Given the description of an element on the screen output the (x, y) to click on. 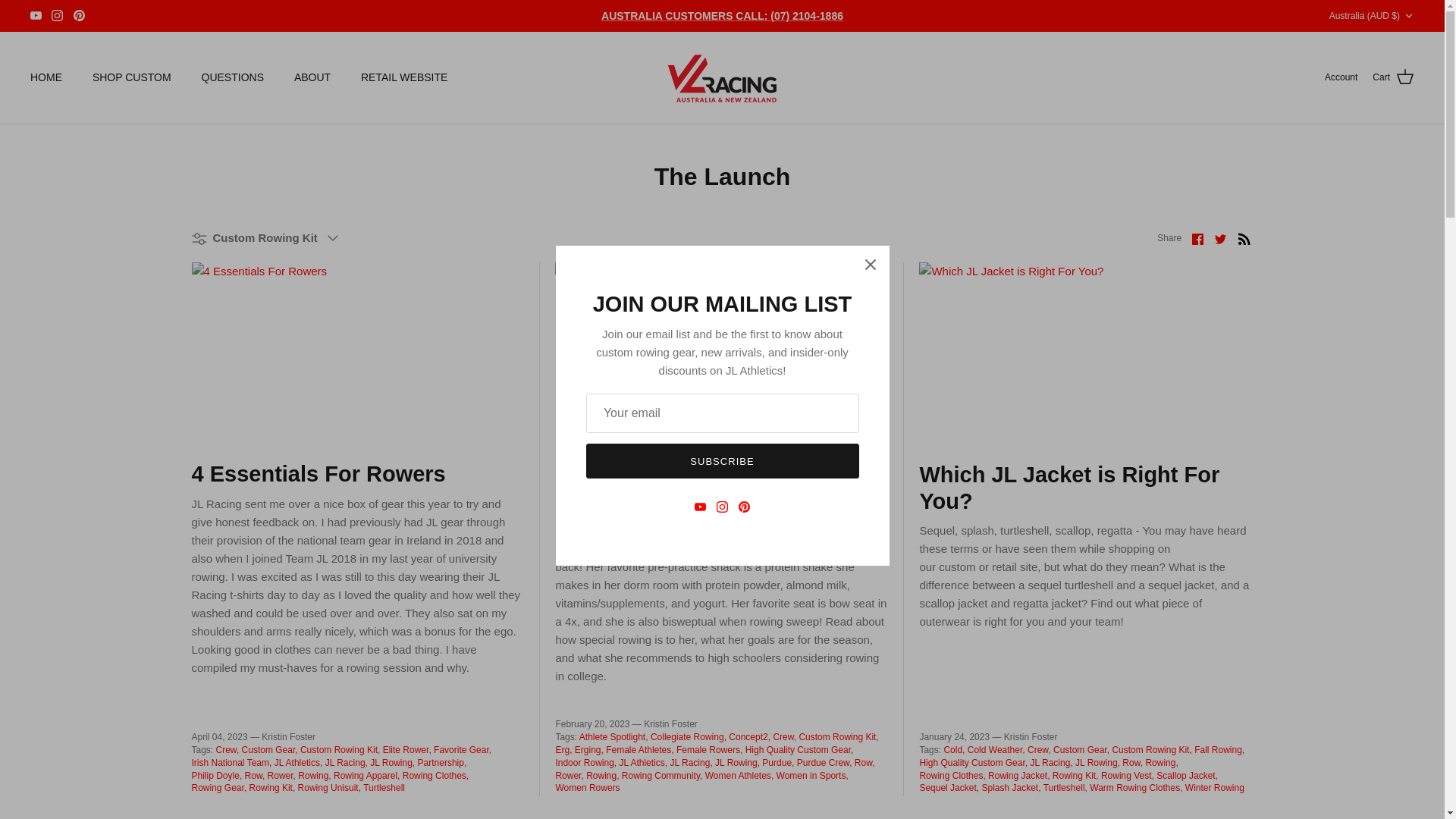
Show articles tagged Rower (281, 775)
Down (1408, 15)
Twitter (1219, 238)
Facebook (1198, 238)
Pinterest (79, 15)
Contact Us (722, 15)
Pinterest (79, 15)
Show articles tagged Irish National Team (230, 762)
Show articles tagged Custom Gear (269, 749)
Youtube (36, 15)
Show articles tagged JL Athletics (299, 762)
Show articles tagged Elite Rower (406, 749)
Show articles tagged JL Racing (346, 762)
Youtube (36, 15)
Show articles tagged Row (254, 775)
